Given the description of an element on the screen output the (x, y) to click on. 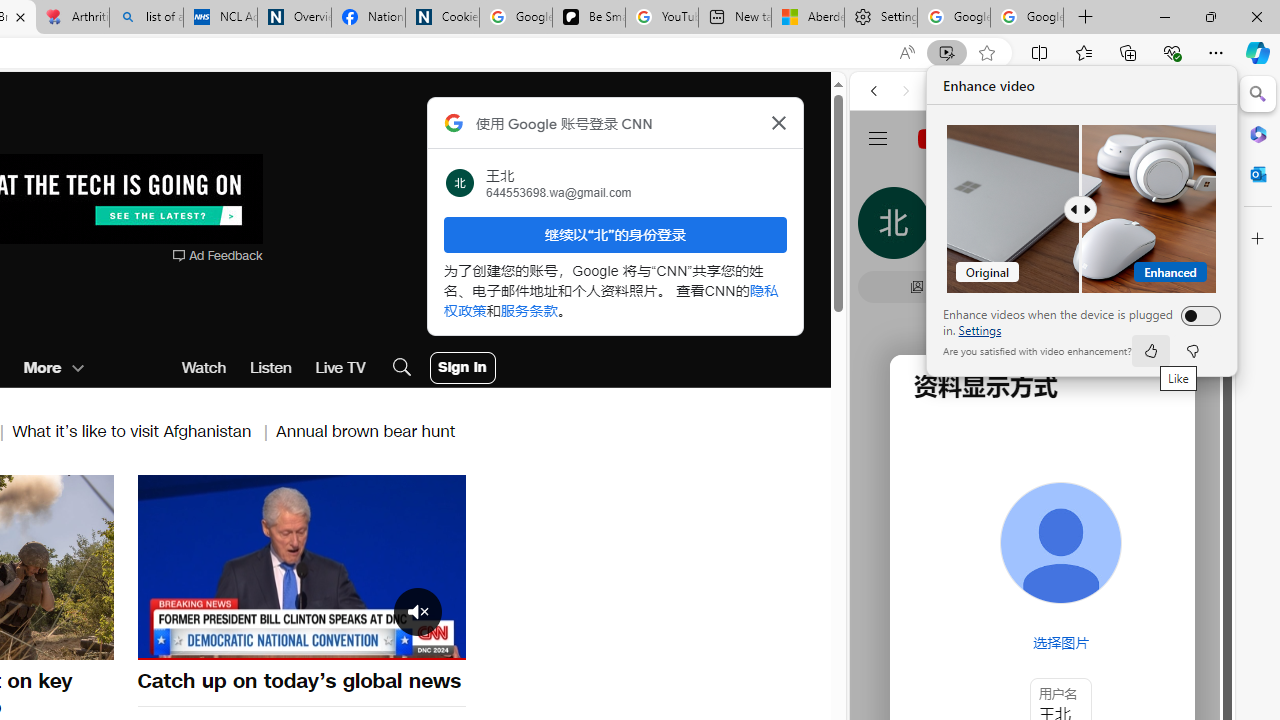
Music (1042, 543)
Be Smart | creating Science videos | Patreon (588, 17)
Search videos from youtube.com (1005, 657)
